Given the description of an element on the screen output the (x, y) to click on. 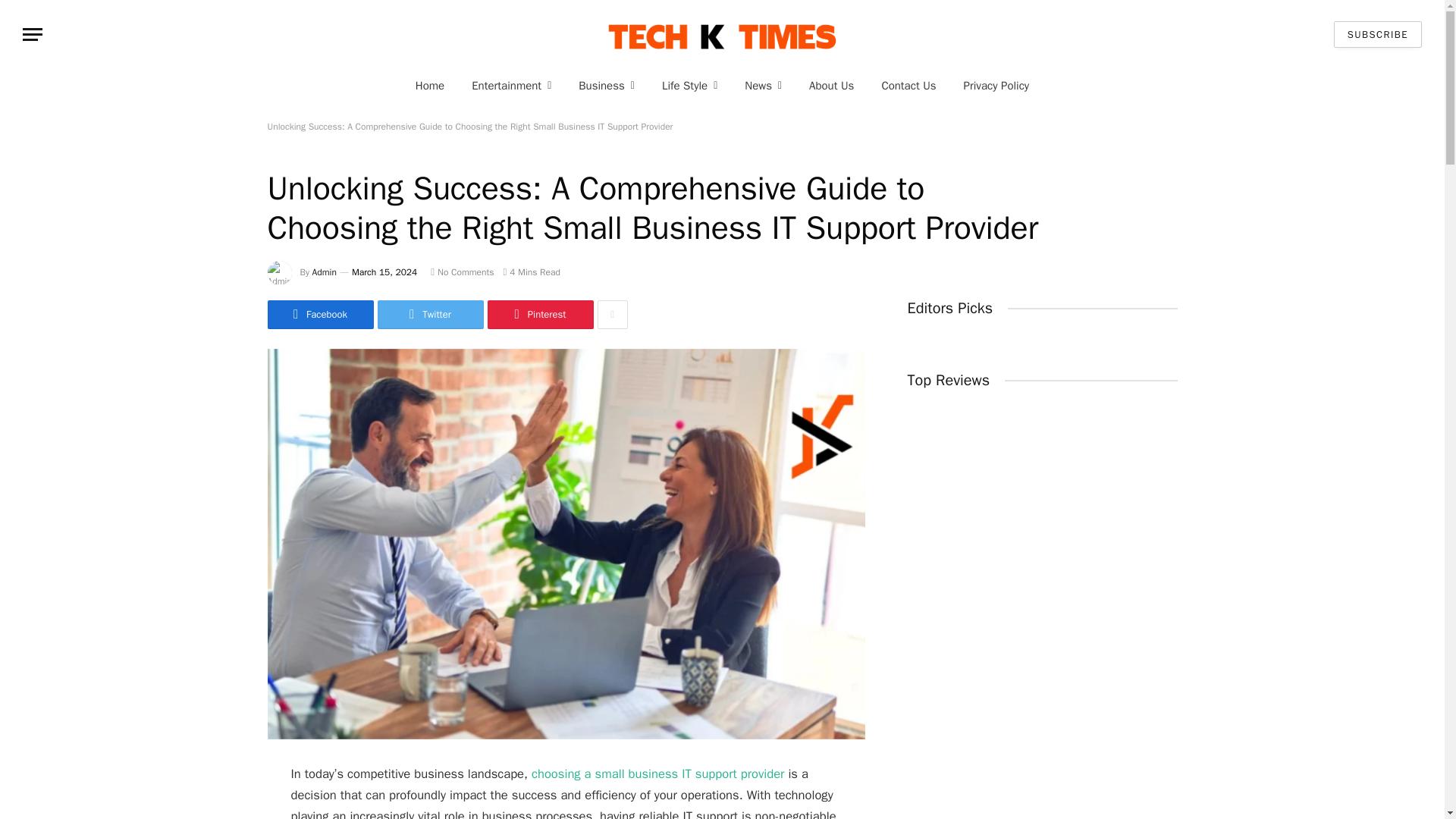
Tech k Times (721, 34)
Posts by Admin (324, 272)
Share on Facebook (319, 314)
